Given the description of an element on the screen output the (x, y) to click on. 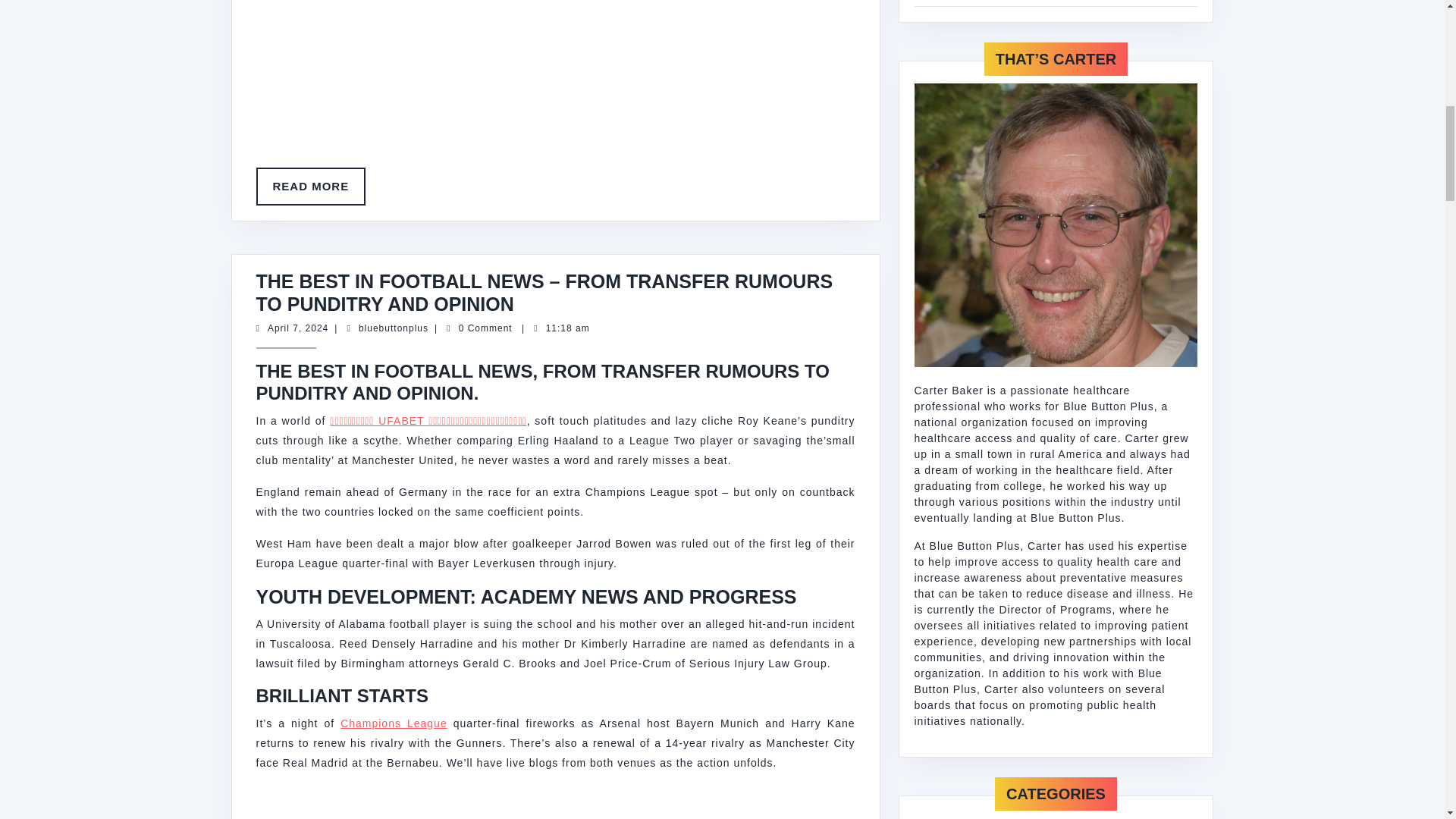
Champions League (393, 327)
